Given the description of an element on the screen output the (x, y) to click on. 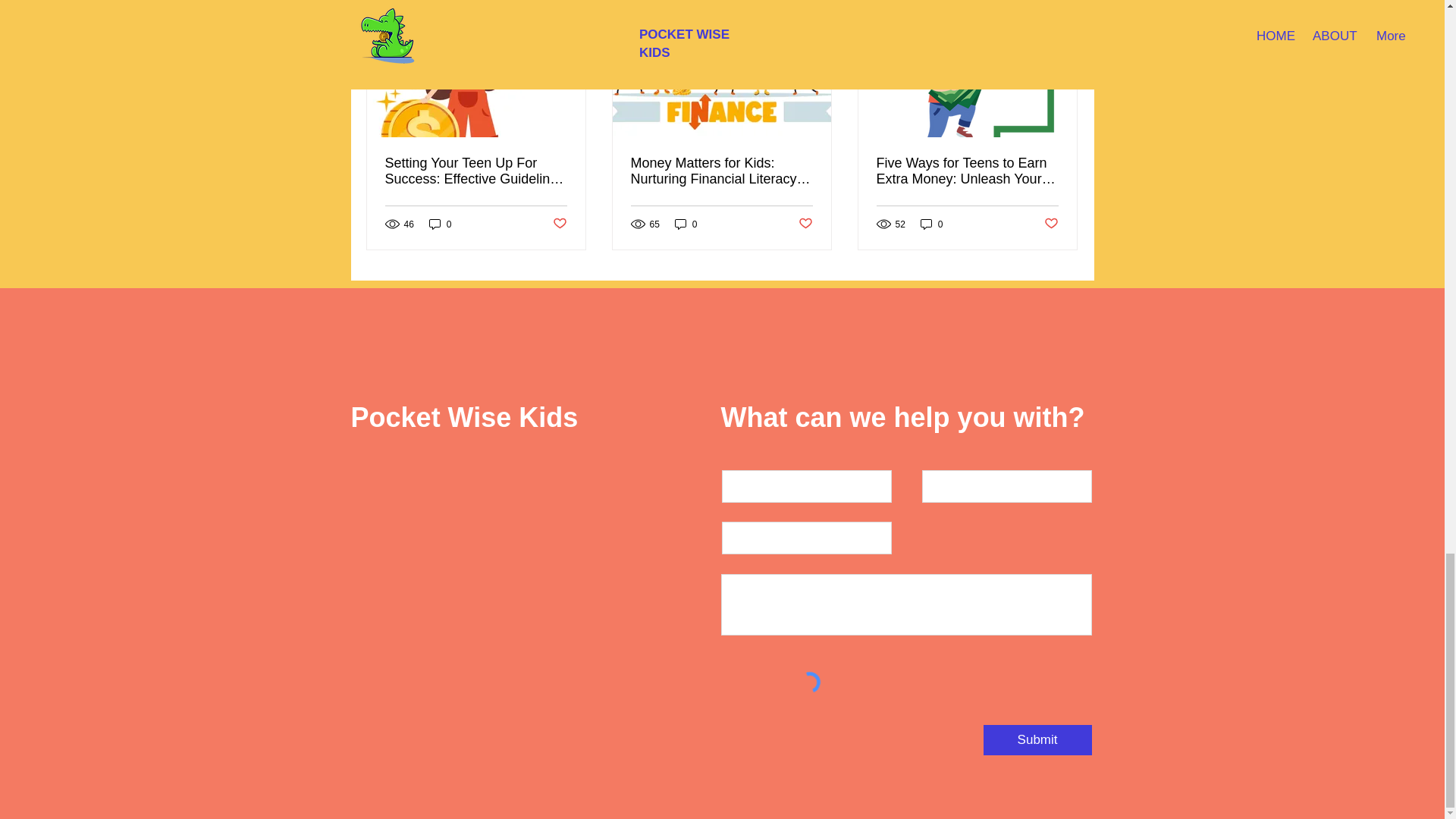
Post not marked as liked (1050, 223)
0 (685, 223)
0 (440, 223)
Submit (1038, 739)
0 (931, 223)
Post not marked as liked (558, 223)
Post not marked as liked (804, 223)
